Given the description of an element on the screen output the (x, y) to click on. 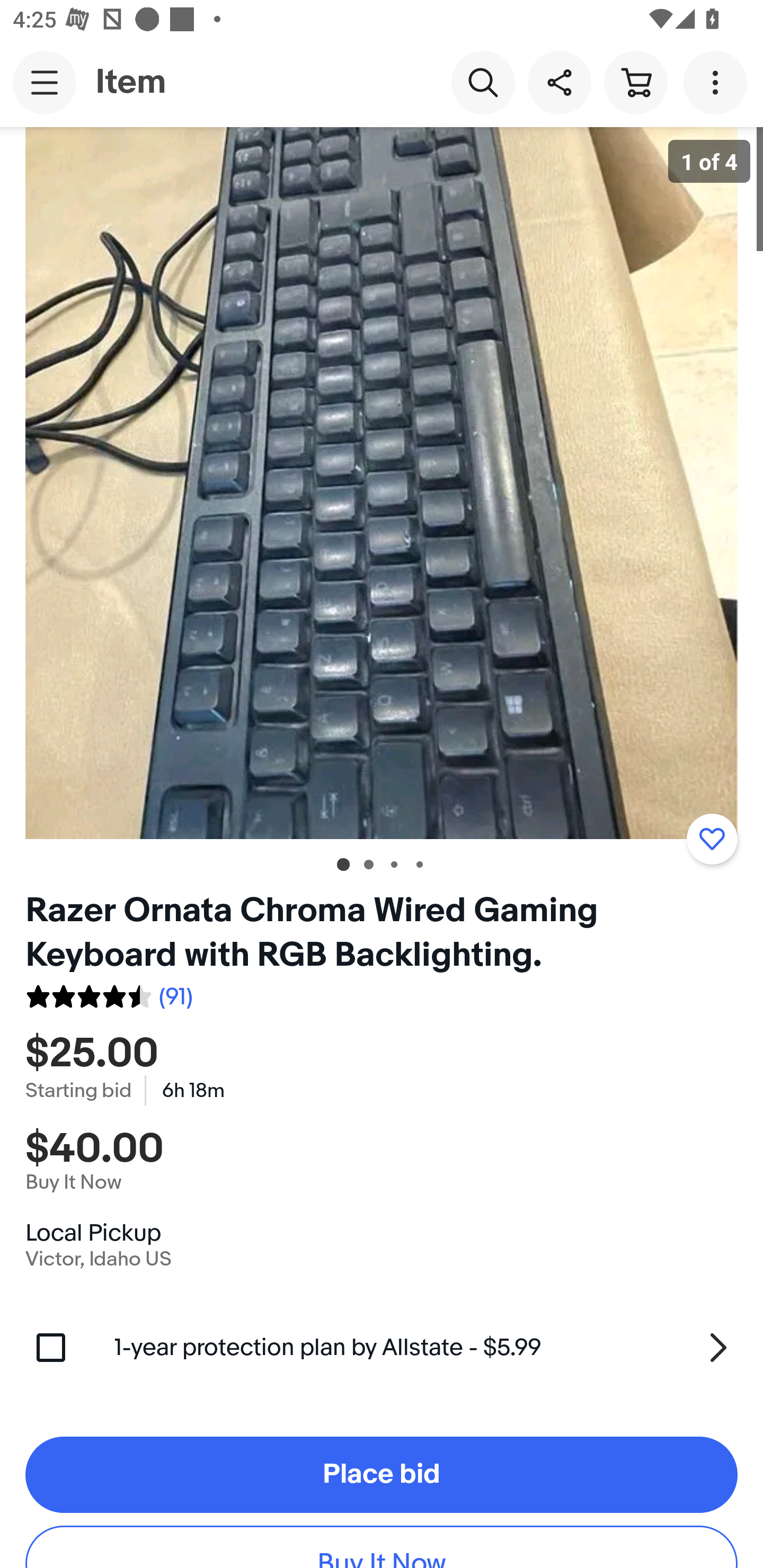
Main navigation, open (44, 82)
Search (482, 81)
Share this item (559, 81)
Cart button shopping cart (635, 81)
More options (718, 81)
Item image 1 of 4 (381, 482)
Add to watchlist (711, 838)
1-year protection plan by Allstate - $5.99 (425, 1347)
Place bid (381, 1474)
Buy It Now (381, 1546)
